Given the description of an element on the screen output the (x, y) to click on. 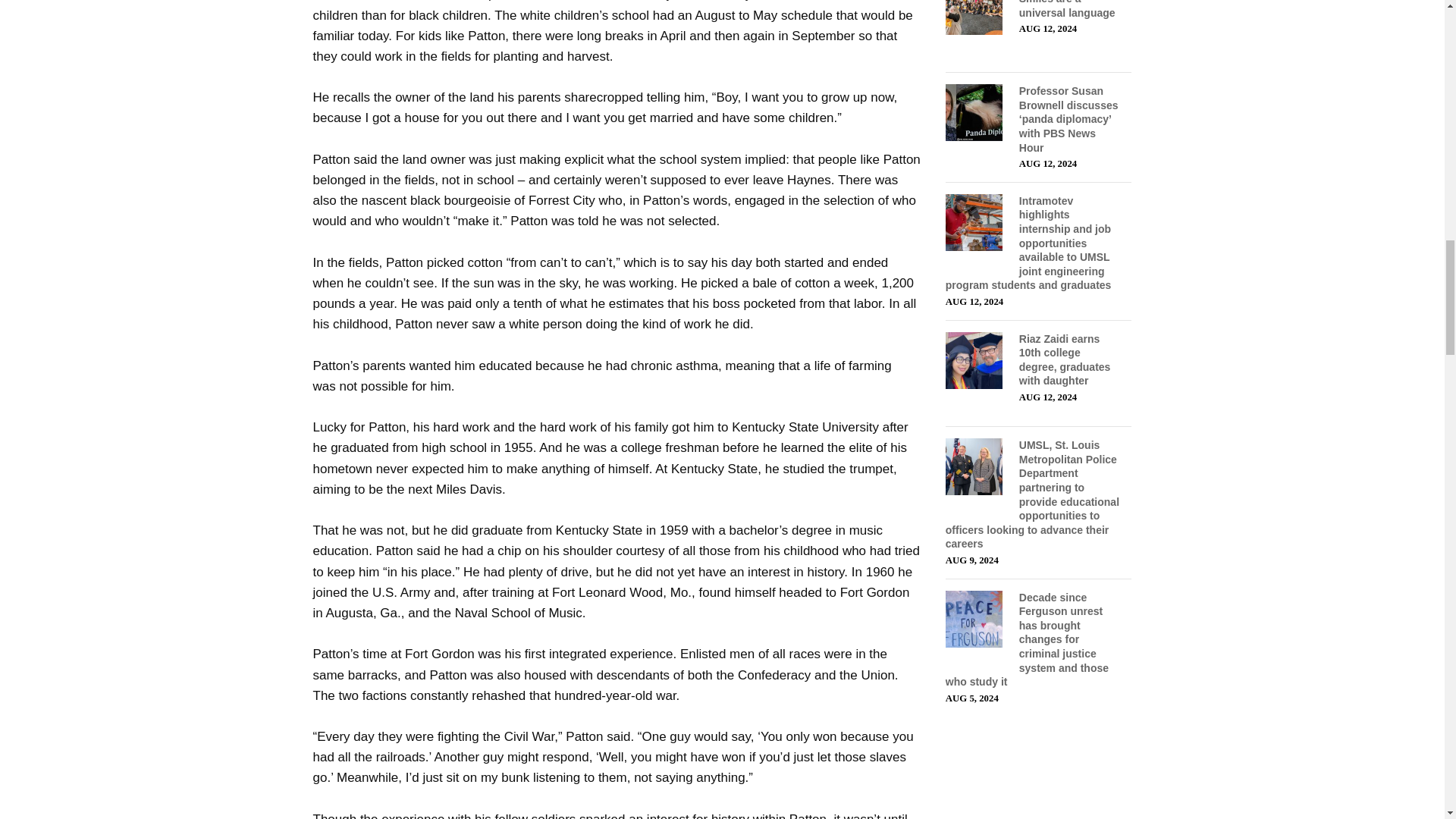
Eye on UMSL: Smiles are a universal language (1067, 9)
